Given the description of an element on the screen output the (x, y) to click on. 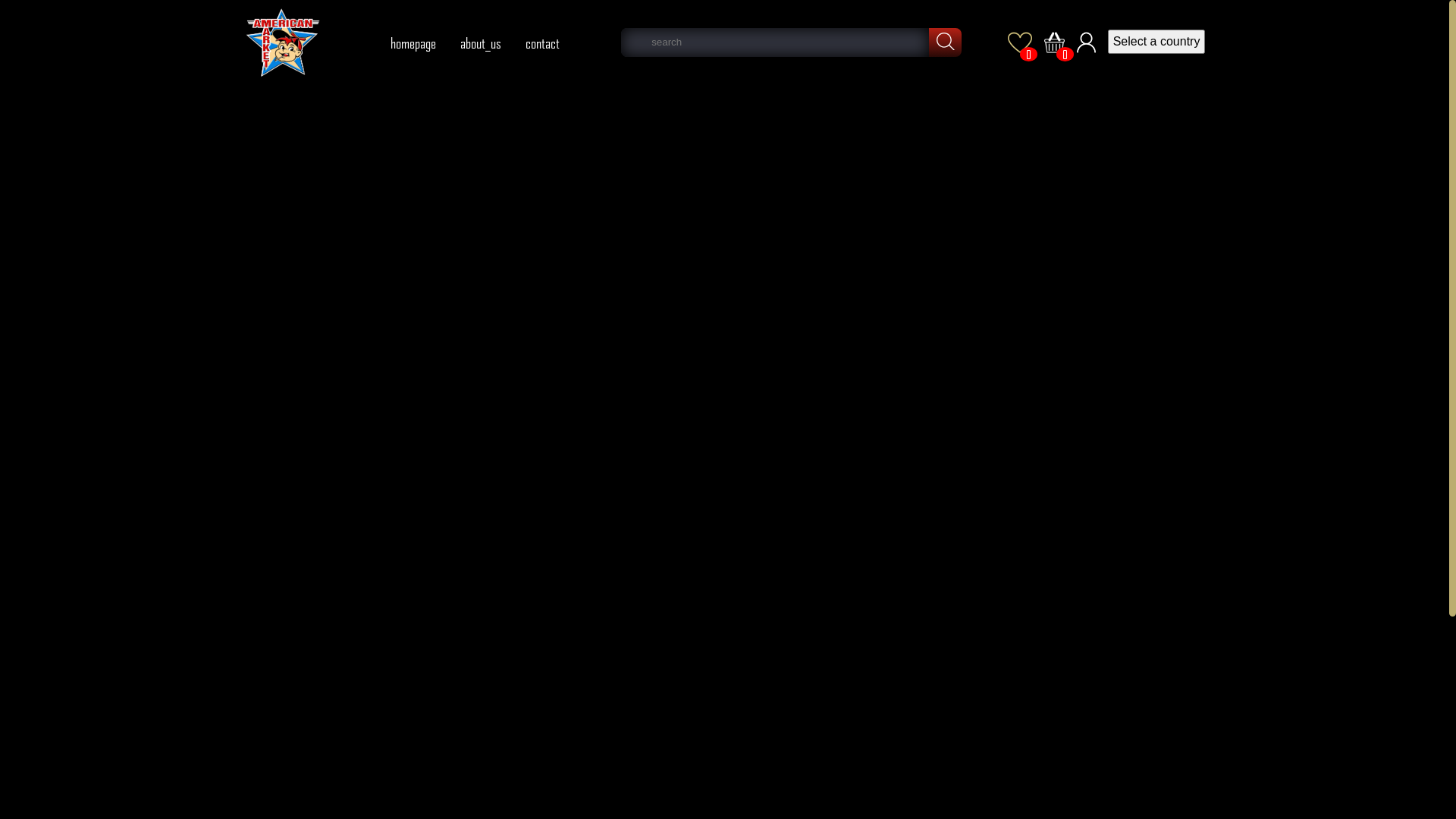
Select a country Element type: text (1155, 41)
homepage Element type: text (413, 41)
contact Element type: text (542, 41)
about_us Element type: text (480, 41)
